Given the description of an element on the screen output the (x, y) to click on. 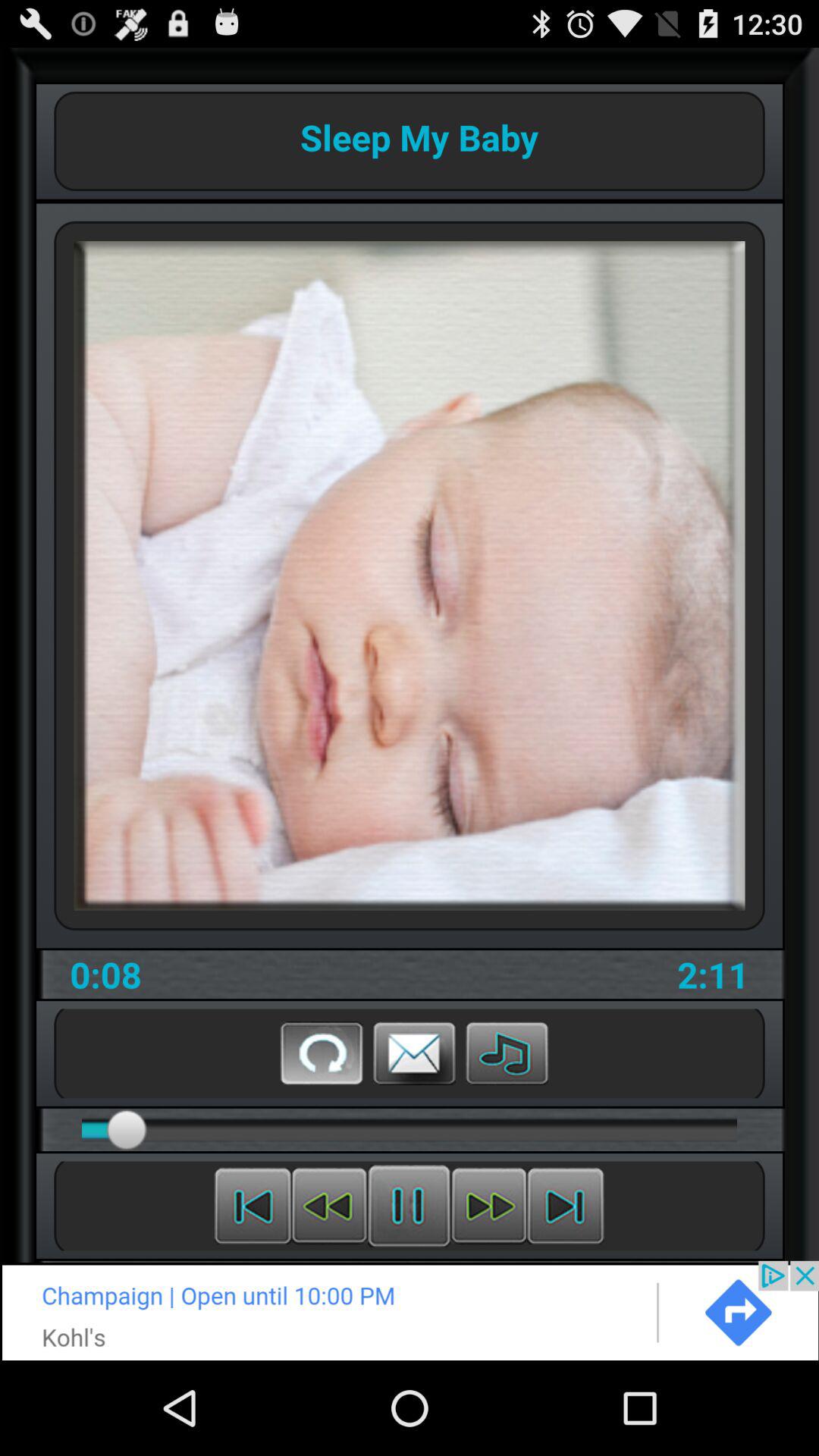
lullaby loop (321, 1053)
